Given the description of an element on the screen output the (x, y) to click on. 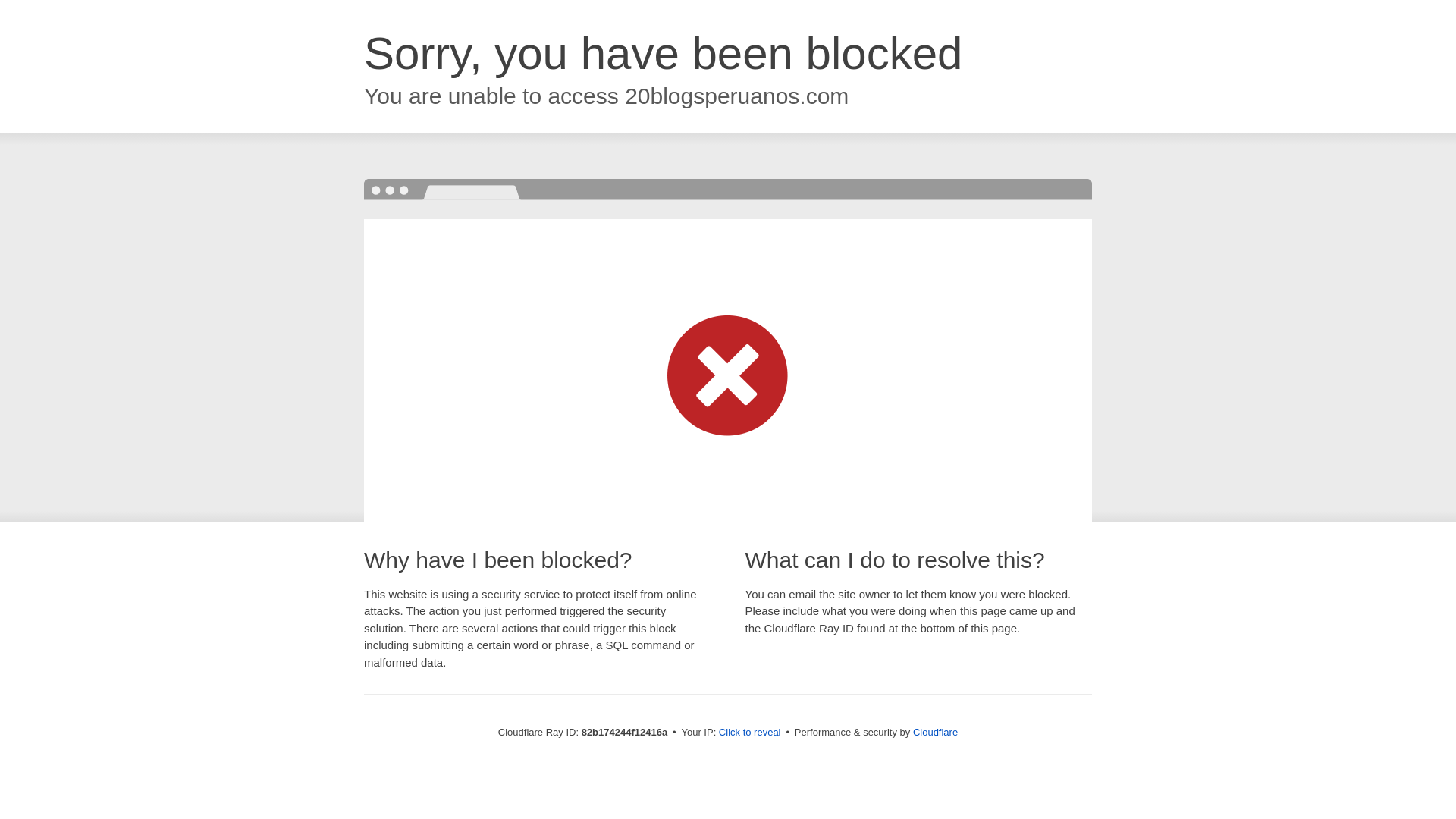
Cloudflare Element type: text (935, 731)
Click to reveal Element type: text (749, 732)
